Given the description of an element on the screen output the (x, y) to click on. 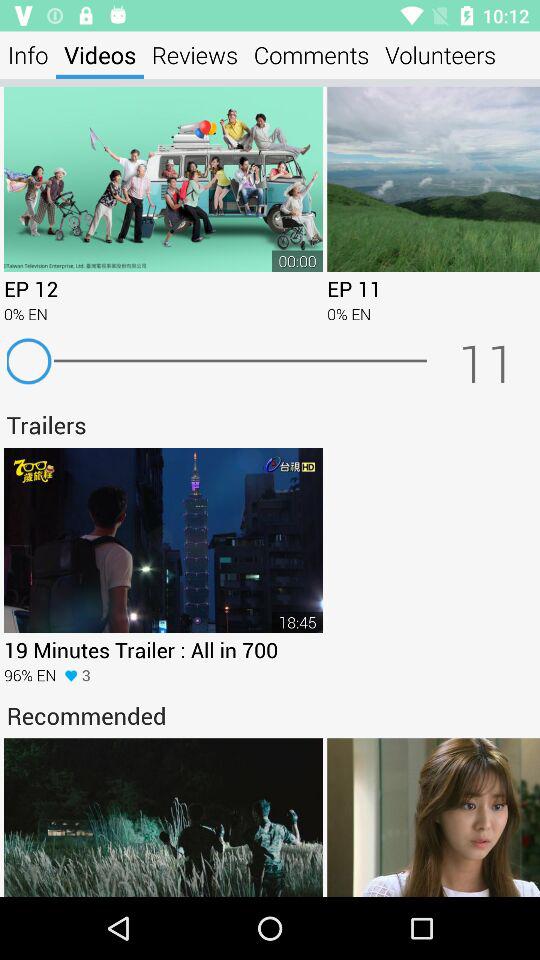
press the item to the left of videos icon (28, 54)
